Given the description of an element on the screen output the (x, y) to click on. 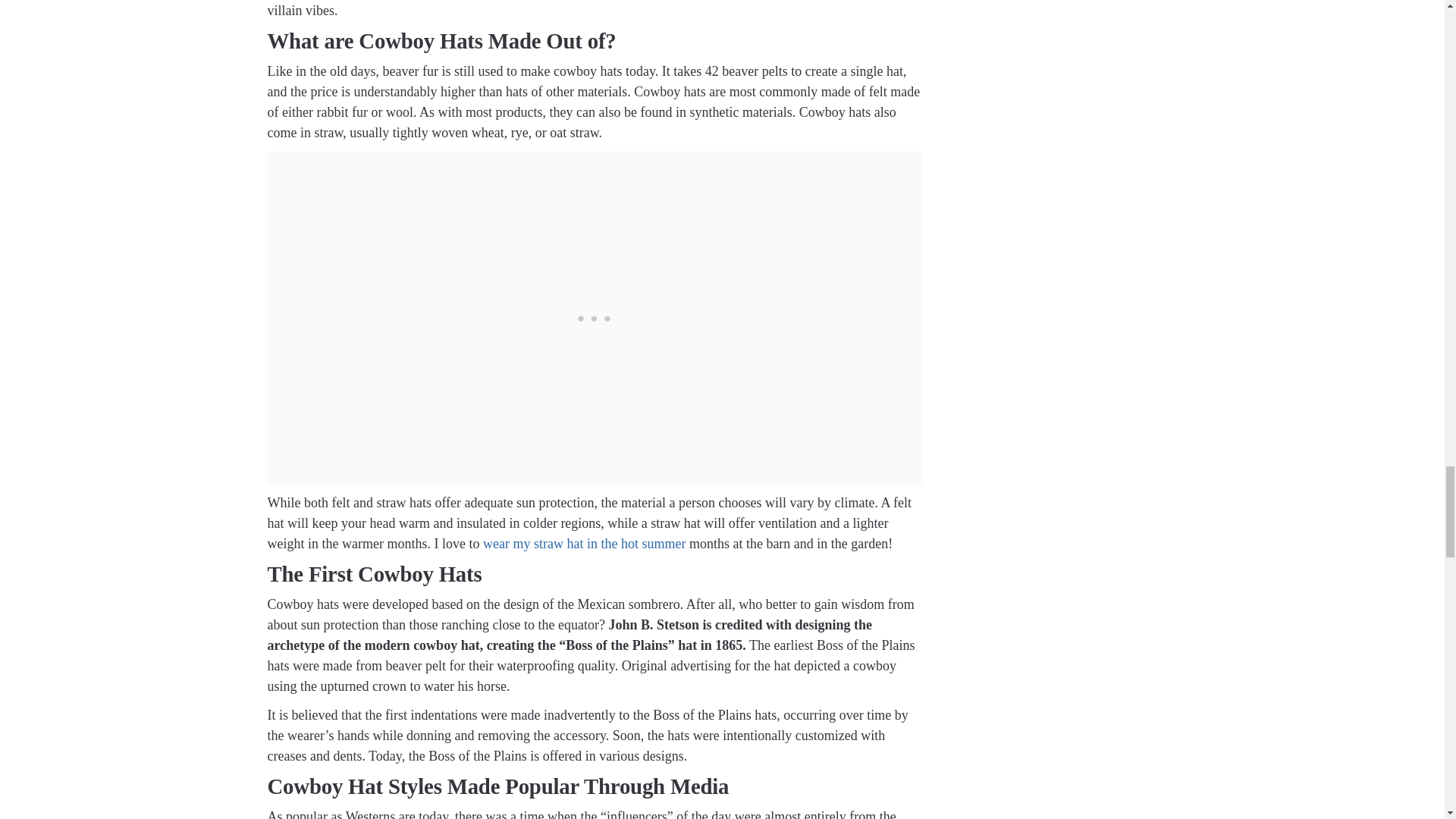
wear my straw hat in the hot summer (584, 543)
